Given the description of an element on the screen output the (x, y) to click on. 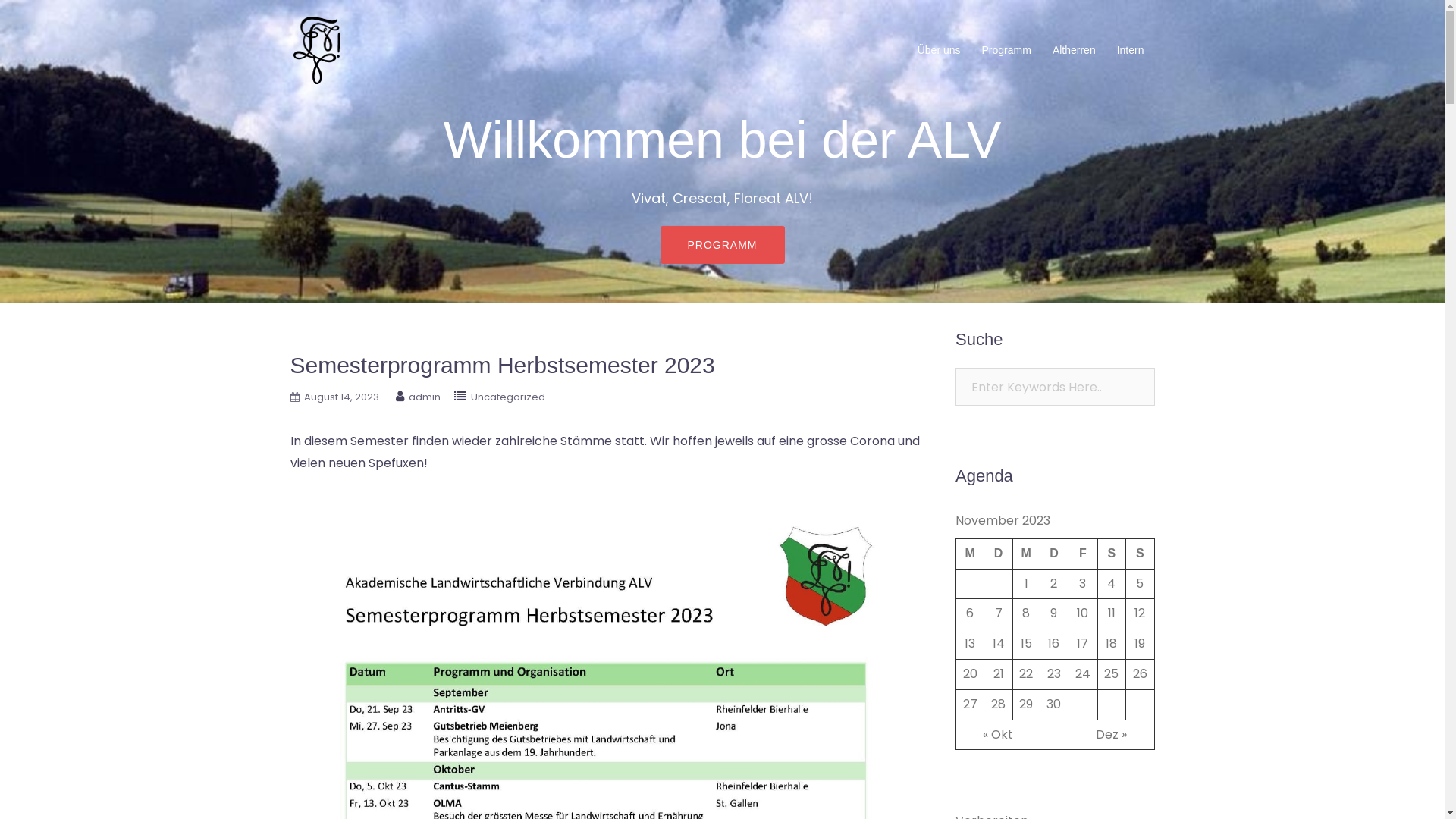
15 Element type: text (1026, 643)
Semesterprogramm Herbstsemester 2023 Element type: text (501, 364)
22 Element type: text (1025, 673)
30 Element type: text (1053, 703)
Programm Element type: text (1006, 49)
Uncategorized Element type: text (507, 396)
1 Element type: text (1026, 583)
Intern Element type: text (1130, 49)
August 14, 2023 Element type: text (340, 396)
Altherren Element type: text (1073, 49)
9 Element type: text (1053, 612)
admin Element type: text (423, 396)
Homepage der ALV Element type: hover (315, 49)
Search Element type: text (50, 18)
PROGRAMM Element type: text (721, 244)
